Given the description of an element on the screen output the (x, y) to click on. 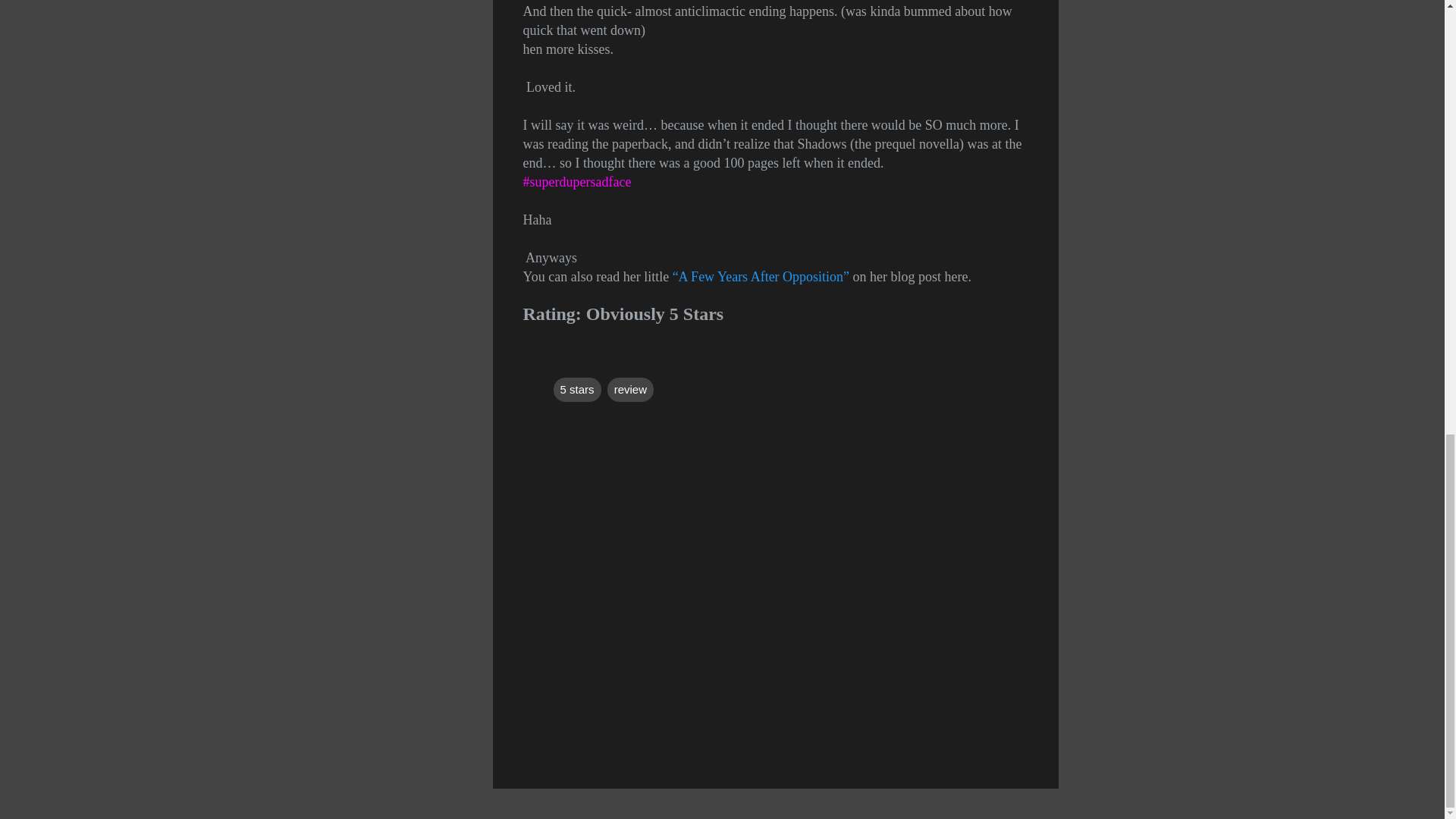
review (630, 389)
5 stars (577, 389)
